Given the description of an element on the screen output the (x, y) to click on. 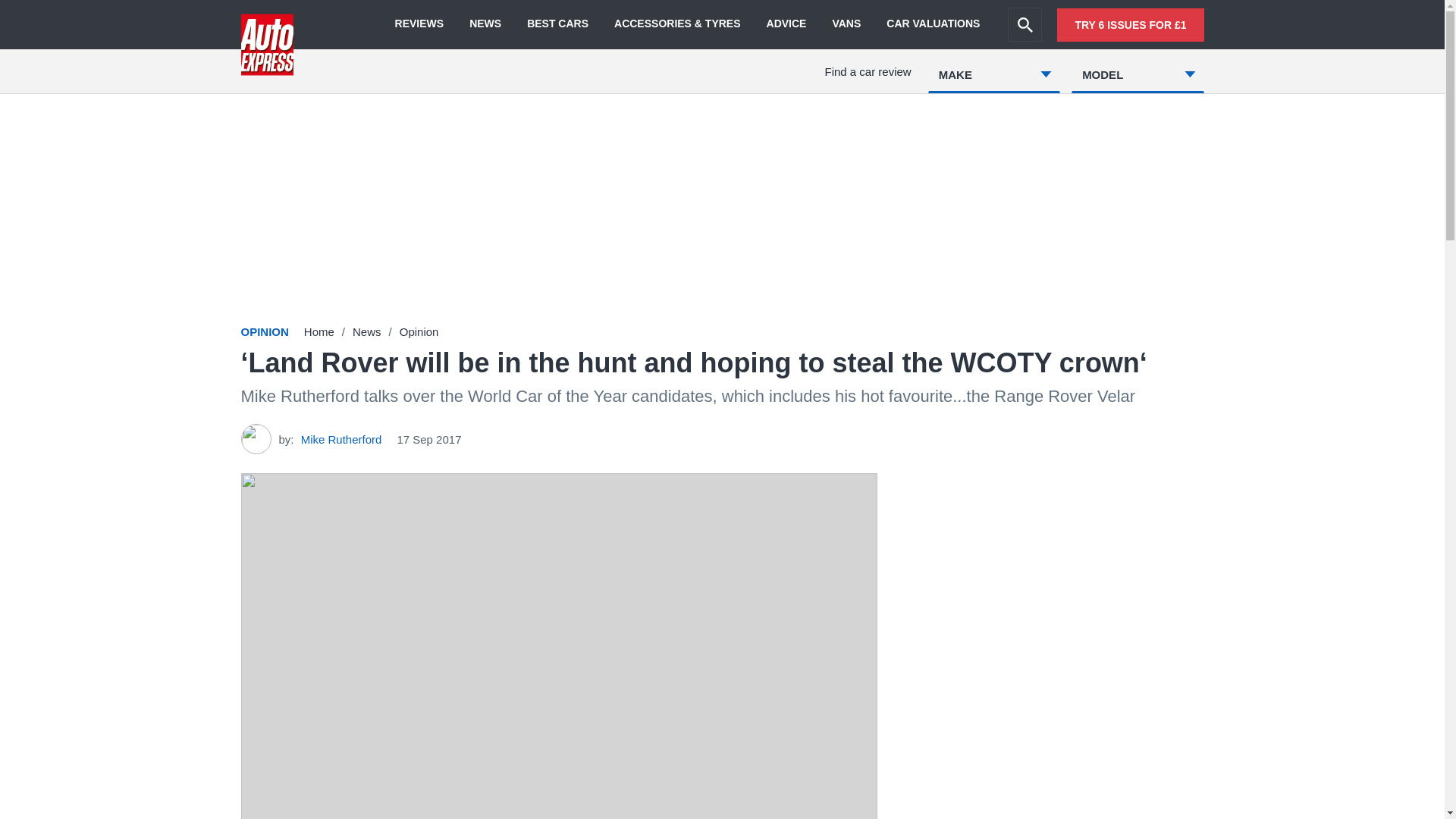
Search (1024, 24)
News (366, 331)
BEST CARS (557, 24)
NEWS (485, 24)
ADVICE (786, 24)
REVIEWS (419, 24)
Opinion (418, 331)
Mike Rutherford (341, 438)
VANS (845, 24)
CAR VALUATIONS (932, 24)
Home (319, 331)
Search (1024, 24)
